Given the description of an element on the screen output the (x, y) to click on. 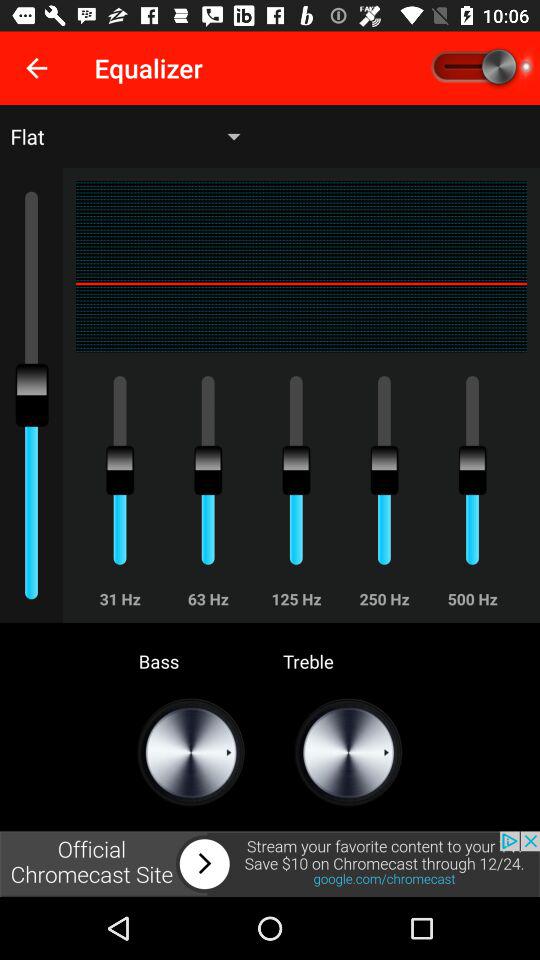
activate equalizer (480, 68)
